Given the description of an element on the screen output the (x, y) to click on. 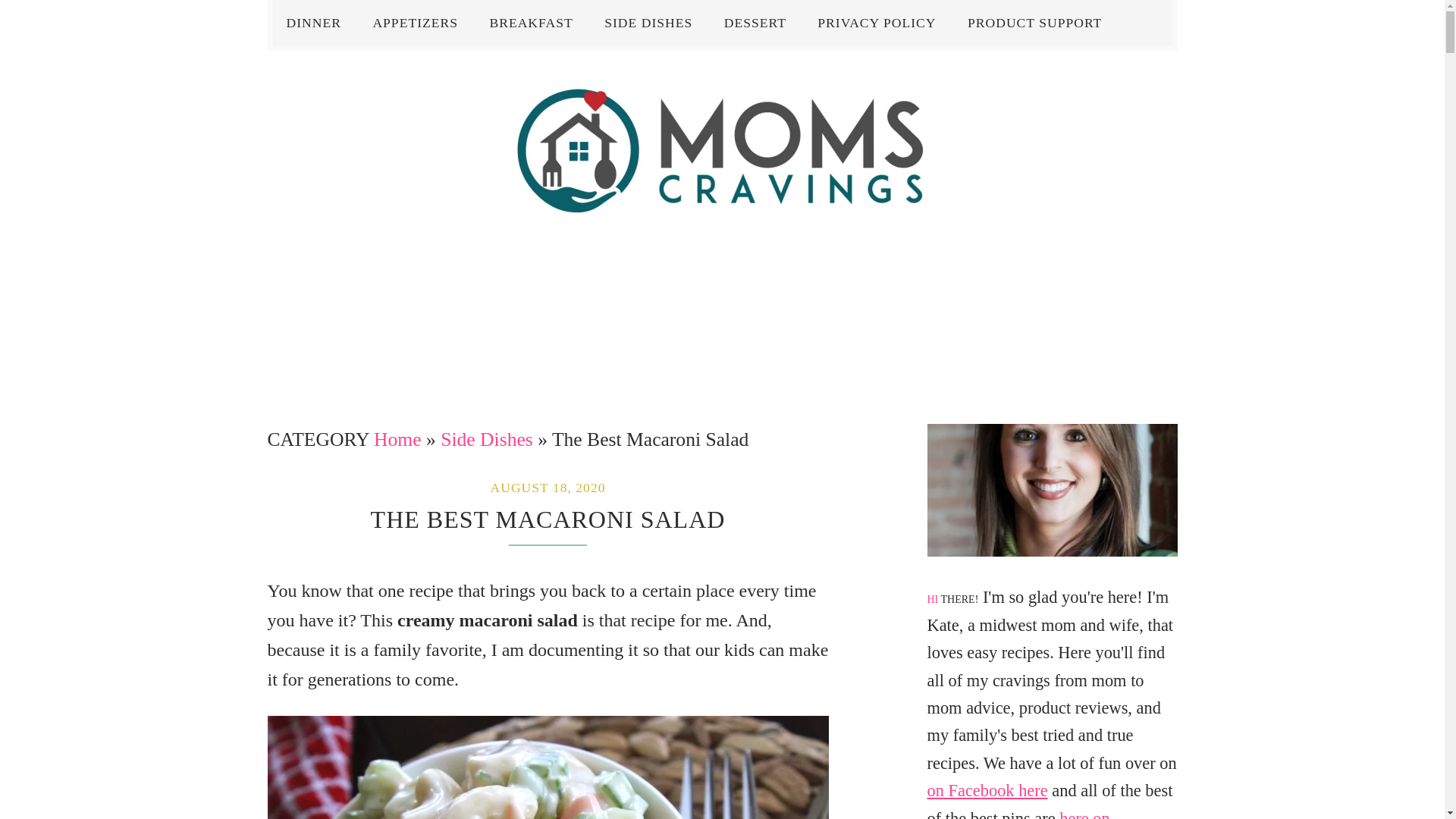
MOM'S CRAVINGS (722, 149)
DESSERT (754, 22)
PRODUCT SUPPORT (1034, 22)
Home (398, 439)
BREAKFAST (531, 22)
PRIVACY POLICY (876, 22)
APPETIZERS (414, 22)
SIDE DISHES (648, 22)
here on Pinterest (1017, 814)
